Given the description of an element on the screen output the (x, y) to click on. 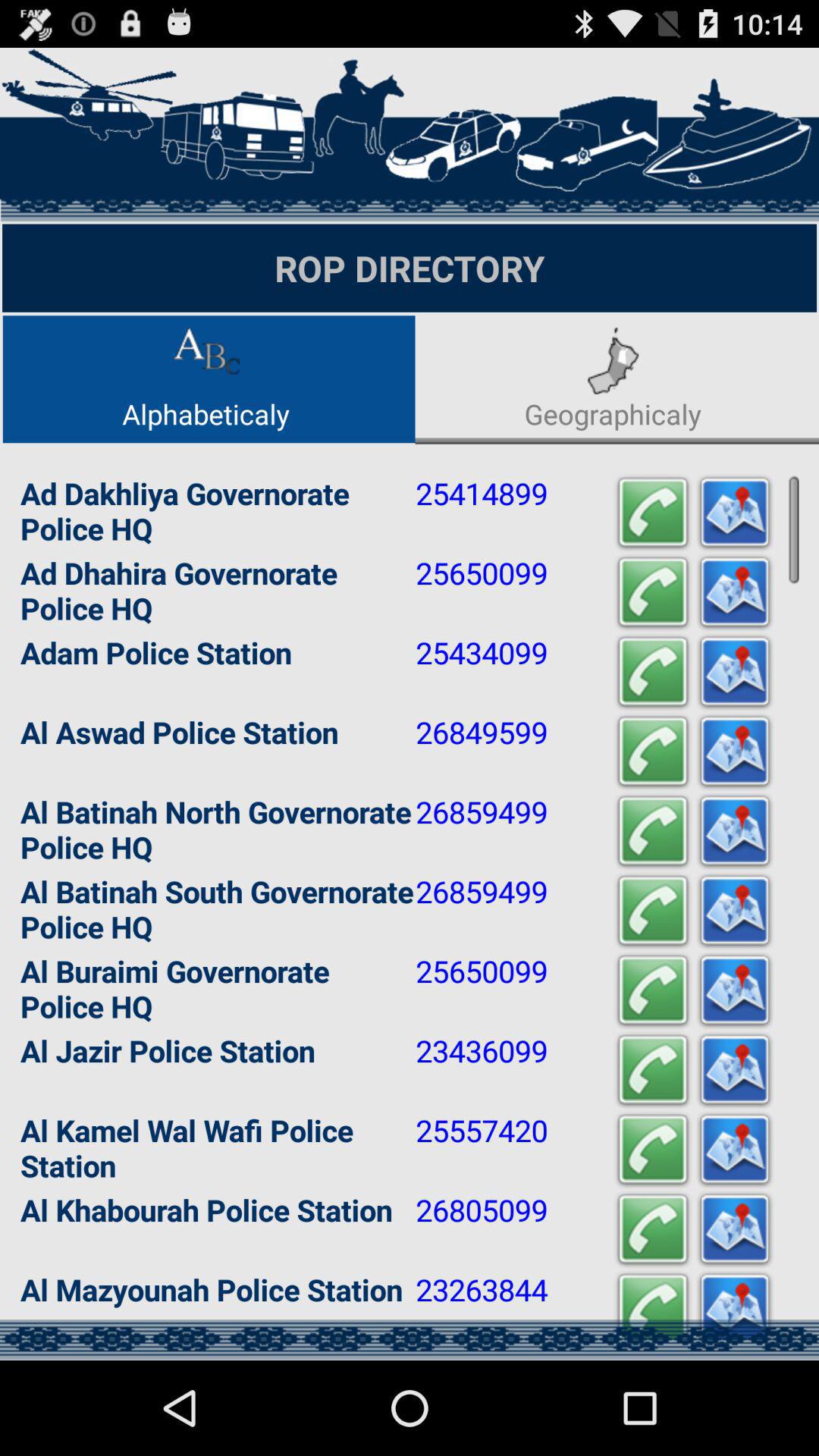
open icon to the right of 26859499 app (652, 910)
